Given the description of an element on the screen output the (x, y) to click on. 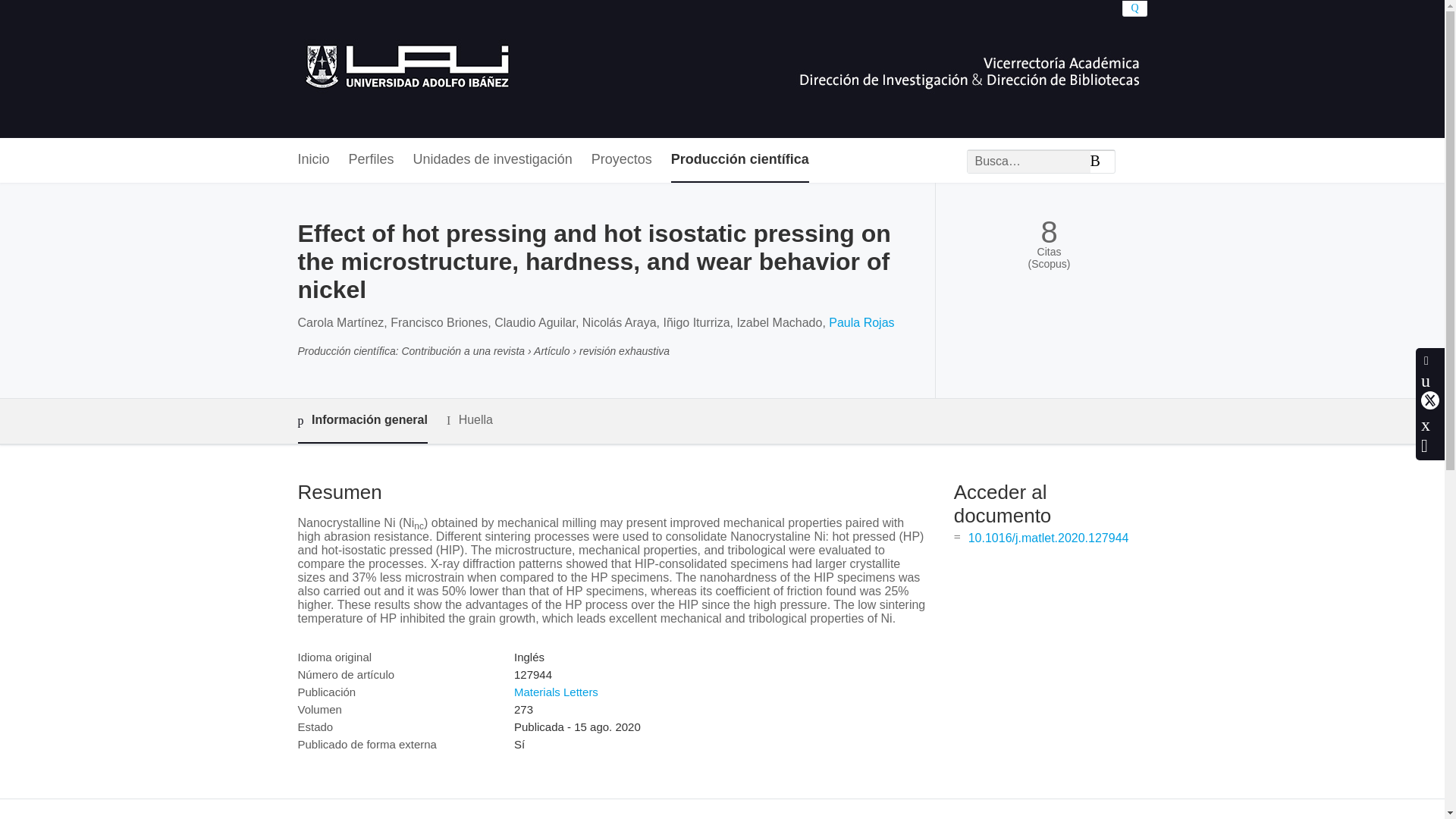
Proyectos (621, 160)
Huella (469, 420)
Perfiles (371, 160)
Paula Rojas (860, 322)
Materials Letters (555, 691)
